Given the description of an element on the screen output the (x, y) to click on. 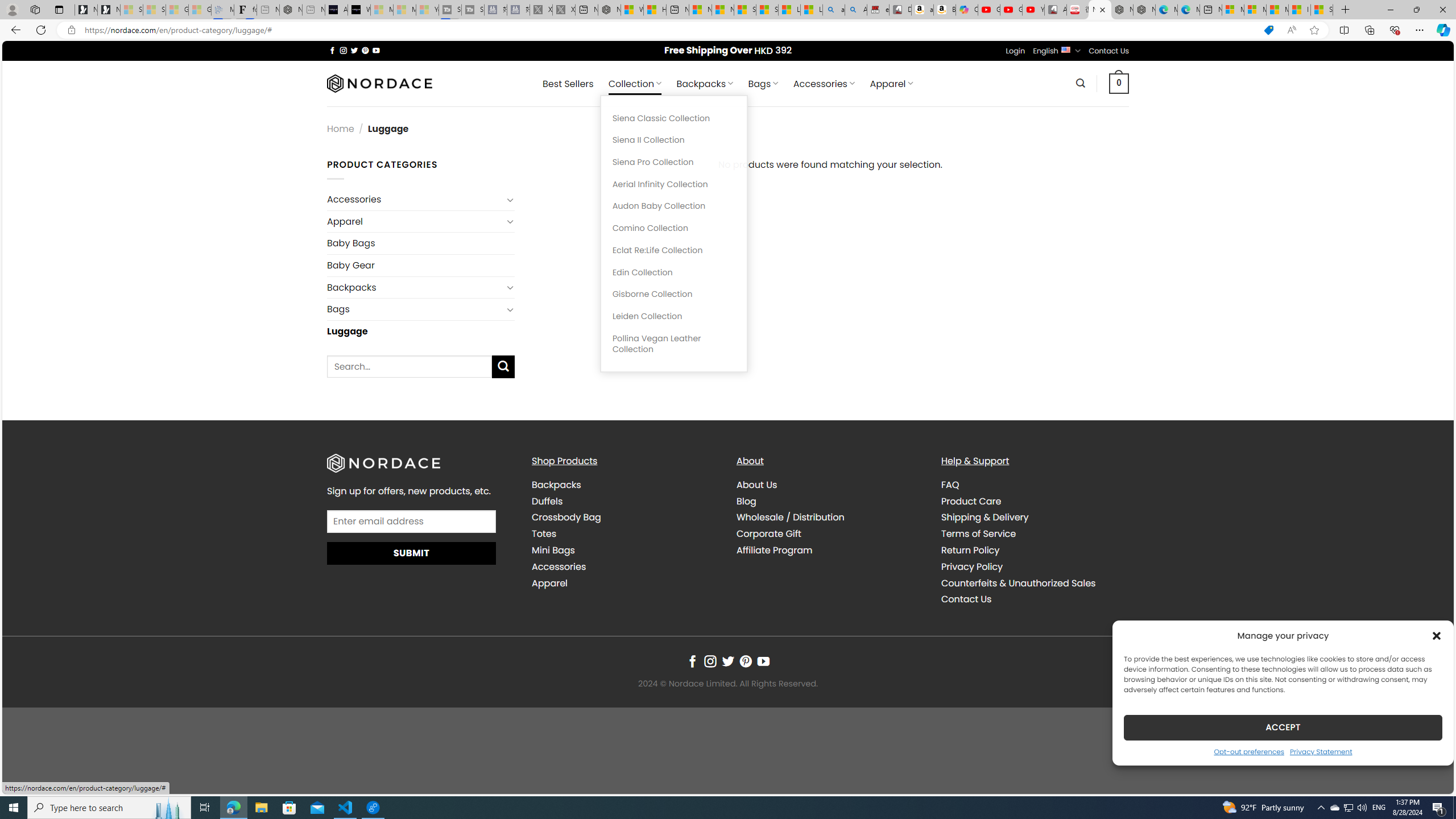
Minimize (1390, 9)
  Best Sellers (568, 83)
Eclat Re:Life Collection (672, 250)
Luggage (421, 330)
Duffels (547, 500)
Privacy Policy (971, 566)
Copilot (966, 9)
Terms of Service (1034, 533)
Shipping & Delivery (984, 517)
Wholesale / Distribution (790, 517)
Wholesale / Distribution (830, 517)
